Given the description of an element on the screen output the (x, y) to click on. 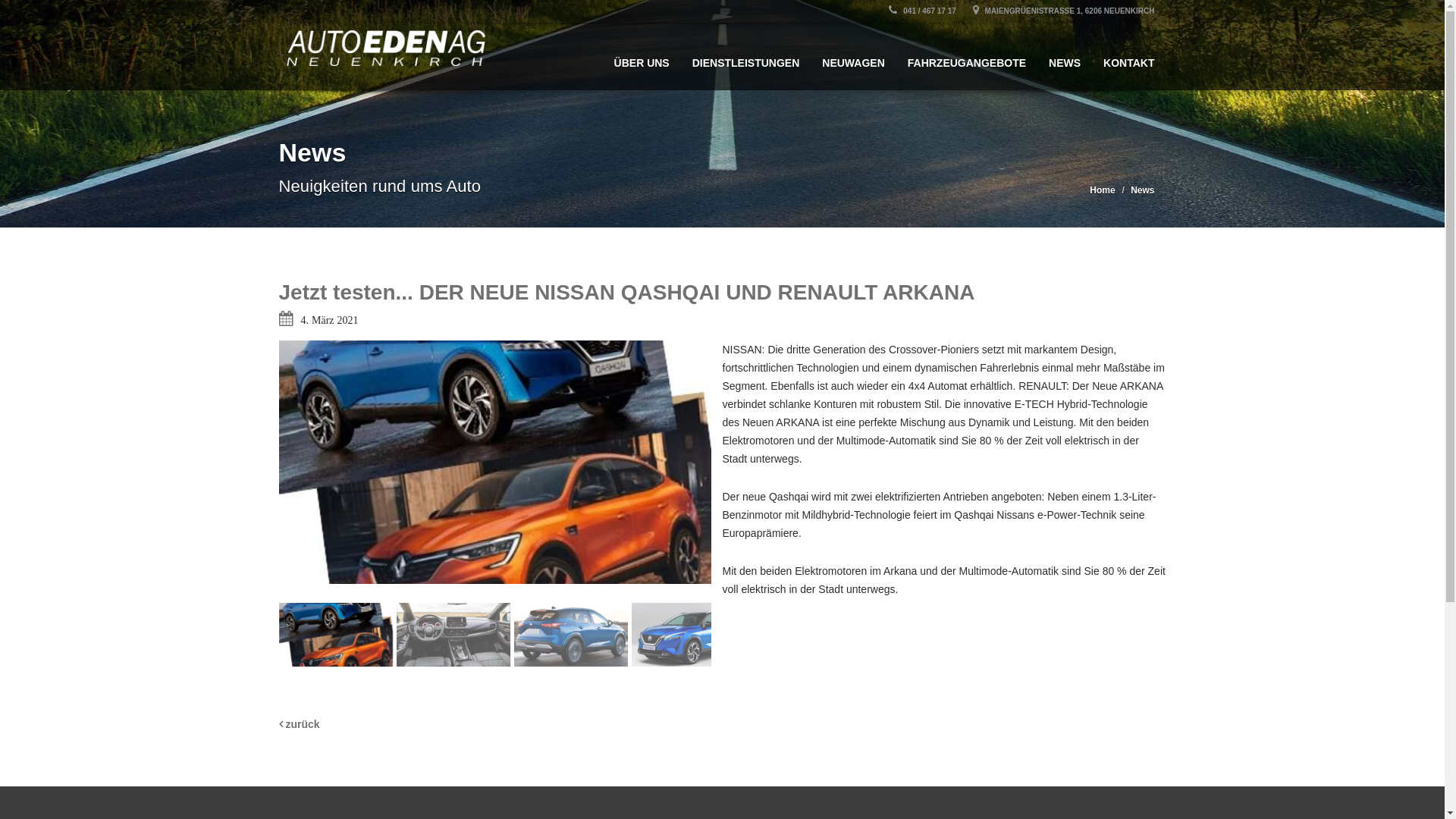
DIENSTLEISTUNGEN Element type: text (745, 56)
FAHRZEUGANGEBOTE Element type: text (966, 56)
NEWS Element type: text (1064, 56)
NEUWAGEN Element type: text (852, 56)
KONTAKT Element type: text (1128, 56)
Home Element type: text (1101, 190)
041 / 467 17 17 Element type: text (921, 10)
